Given the description of an element on the screen output the (x, y) to click on. 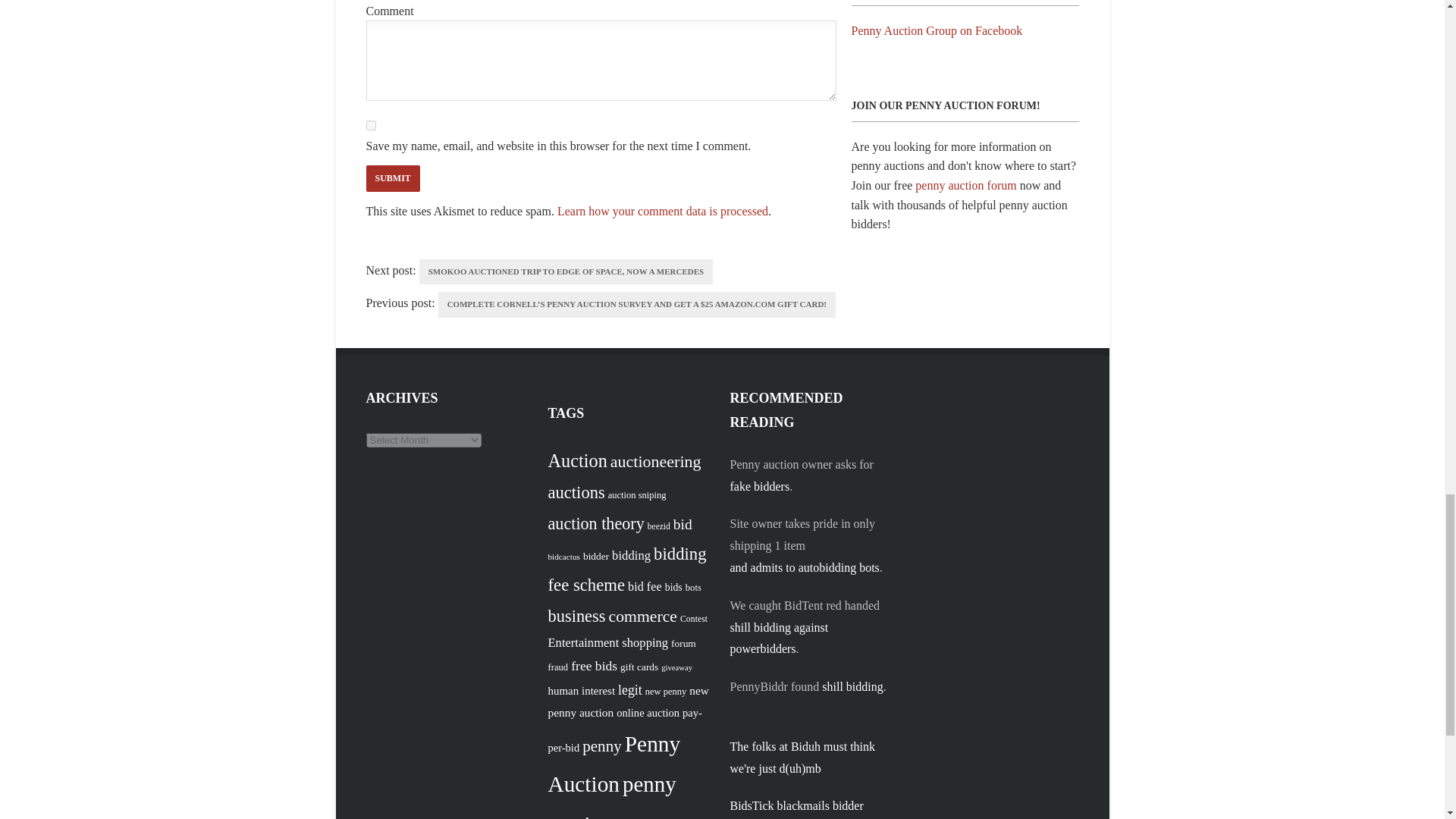
Submit (392, 178)
yes (370, 125)
